Given the description of an element on the screen output the (x, y) to click on. 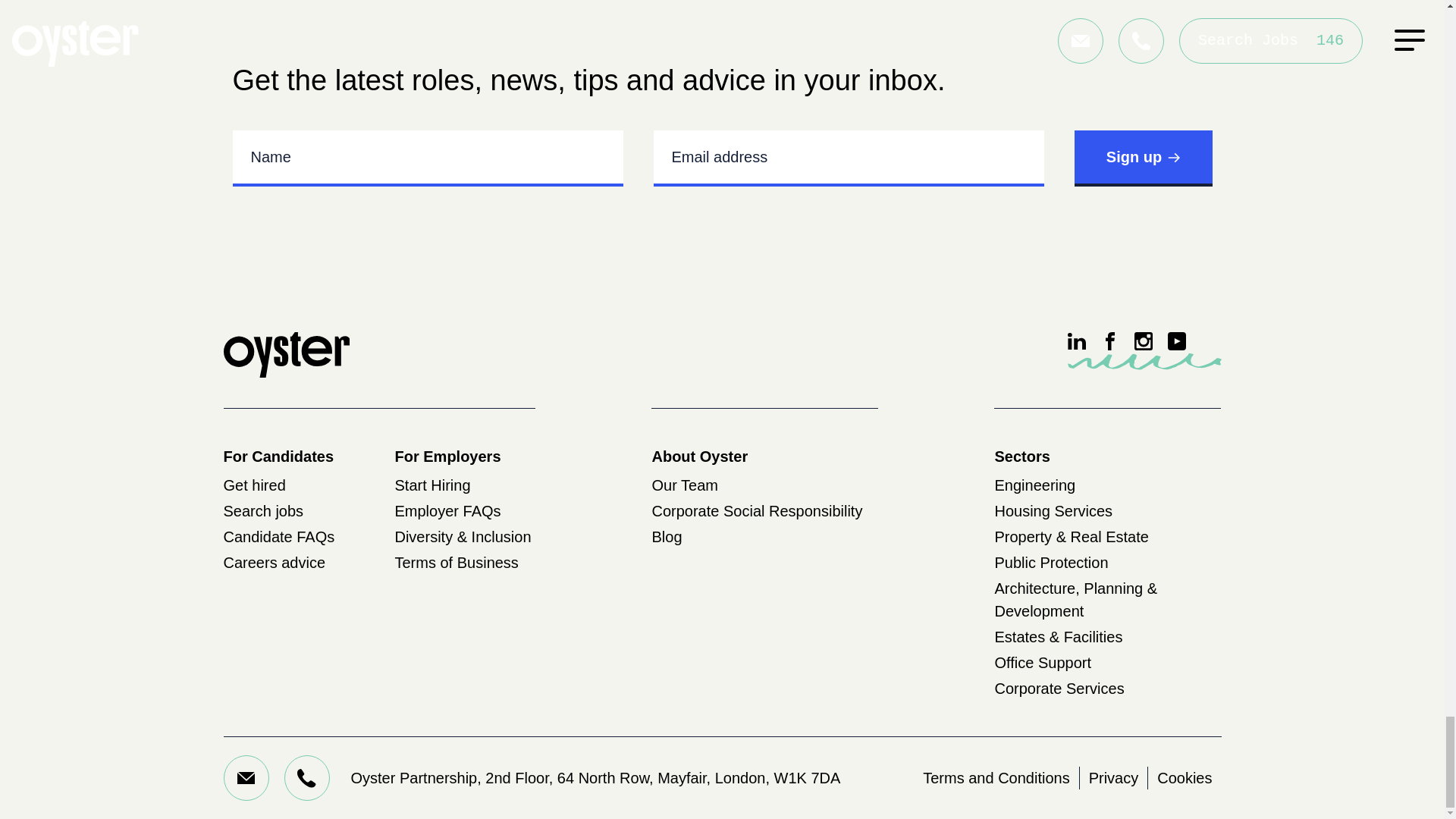
Sign up (1142, 158)
Careers advice (273, 562)
Start Hiring (432, 484)
Find us on Linkedin (1076, 341)
Search jobs (262, 510)
Find us on Facebook (1109, 341)
Find us on Youtube (1176, 341)
Candidate FAQs (278, 536)
Find us on Instagram (1143, 341)
Get hired (253, 484)
